Given the description of an element on the screen output the (x, y) to click on. 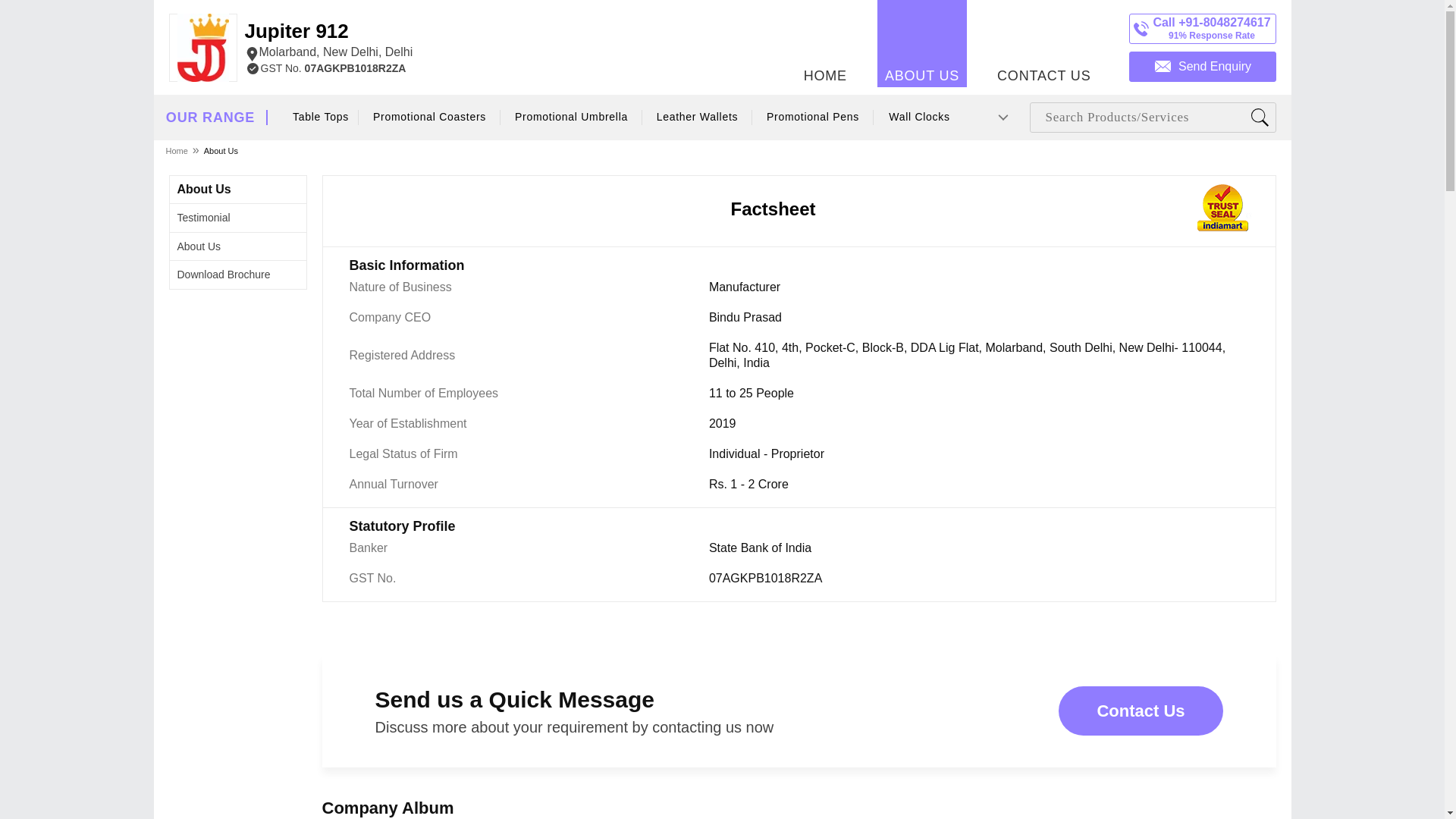
Leather Wallets (697, 117)
Testimonial (203, 217)
Wall Clocks (918, 117)
About Us (199, 246)
About Us (220, 150)
Table Tops (320, 117)
Download Brochure (223, 274)
Promotional Coasters (429, 117)
About Us (204, 188)
OUR RANGE (209, 117)
Home (176, 150)
Promotional Pens (812, 117)
CONTACT US (328, 41)
Promotional Umbrella (1043, 43)
